Given the description of an element on the screen output the (x, y) to click on. 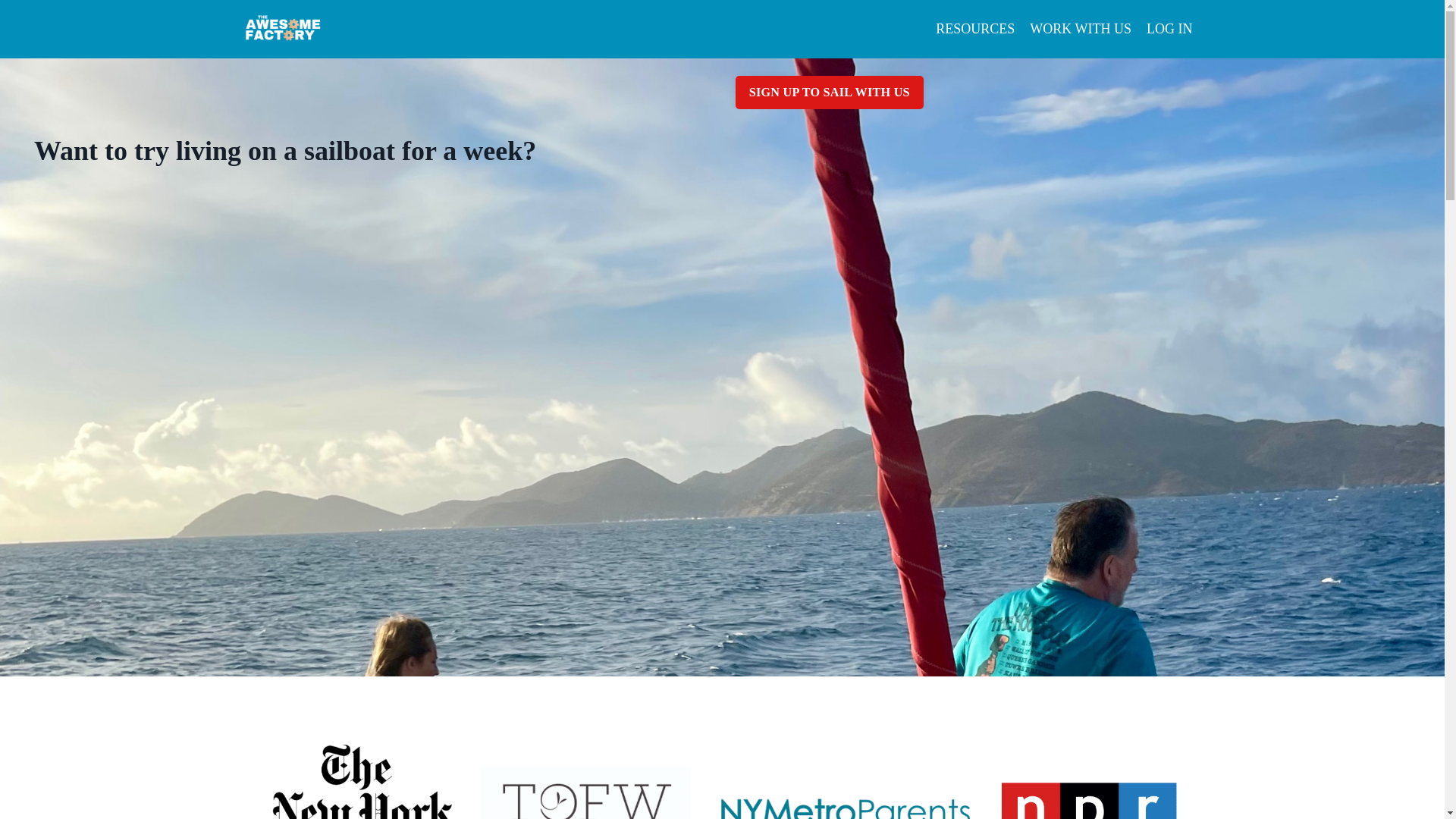
WORK WITH US (1080, 29)
SIGN UP TO SAIL WITH US (829, 92)
RESOURCES (975, 29)
LOG IN (1169, 28)
